Given the description of an element on the screen output the (x, y) to click on. 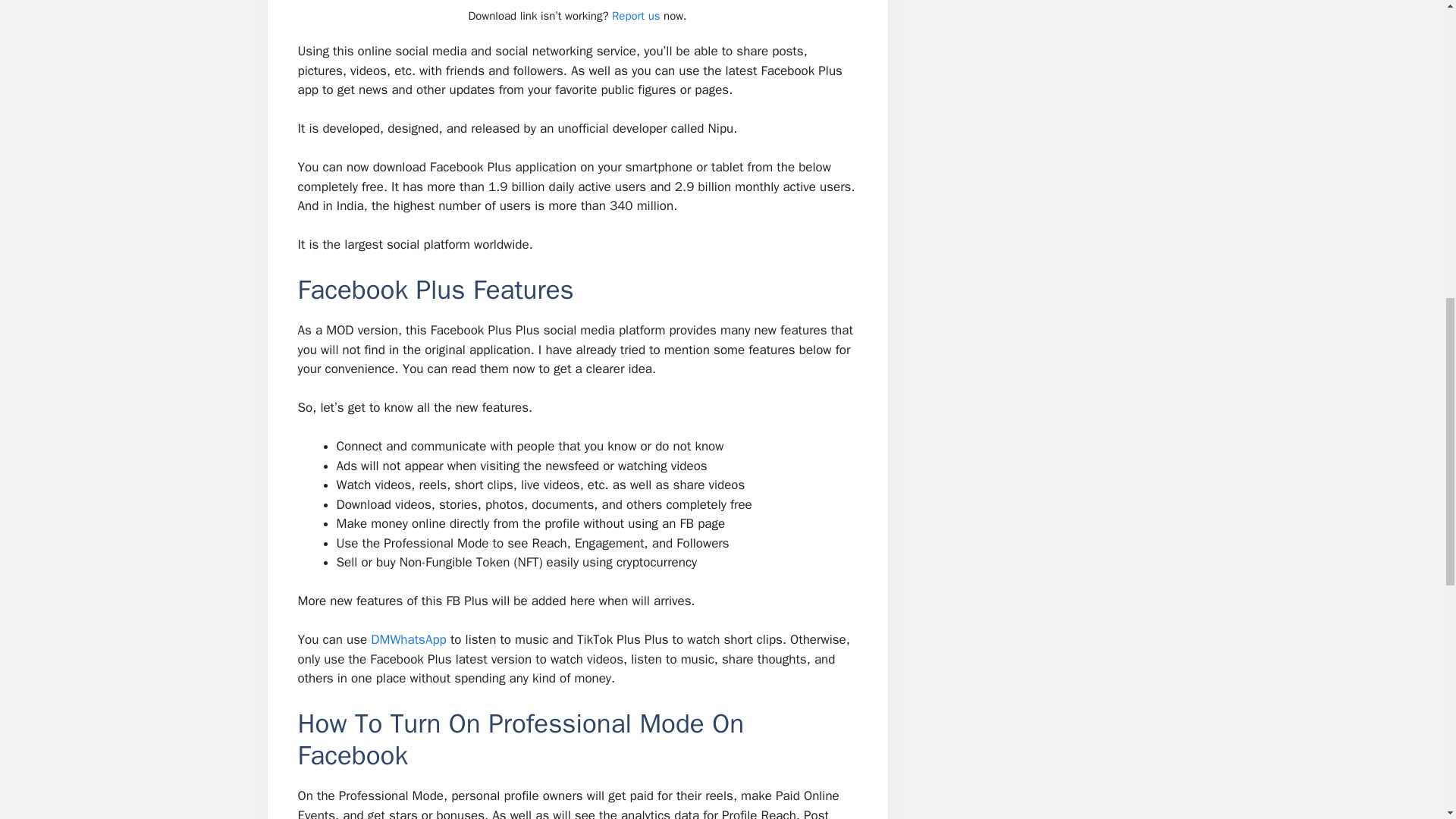
Scroll back to top (1406, 720)
Report us (636, 15)
DMWhatsApp (408, 639)
